Given the description of an element on the screen output the (x, y) to click on. 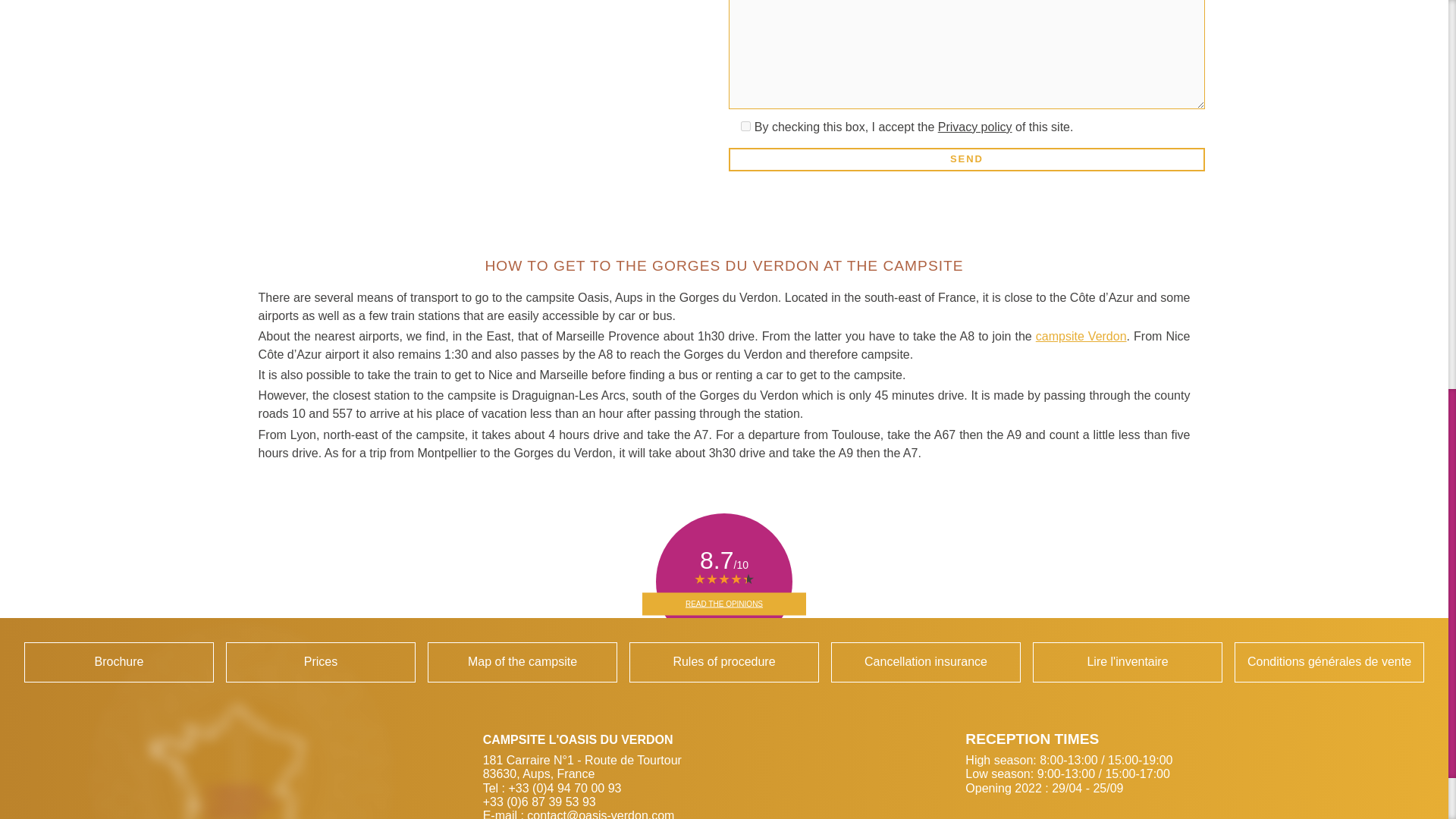
Rules of procedure (723, 661)
Cancellation insurance (925, 661)
Send (966, 159)
Prices (319, 661)
Rules of  procedure (723, 661)
Lire l'inventaire (1127, 661)
Consult the rates (319, 661)
1 (119, 661)
Privacy policy (746, 126)
Cancellation insurance (974, 126)
Brochure (925, 661)
See the map of the campsite (119, 661)
Map of the campsite (522, 661)
campsite Verdon (522, 661)
